Given the description of an element on the screen output the (x, y) to click on. 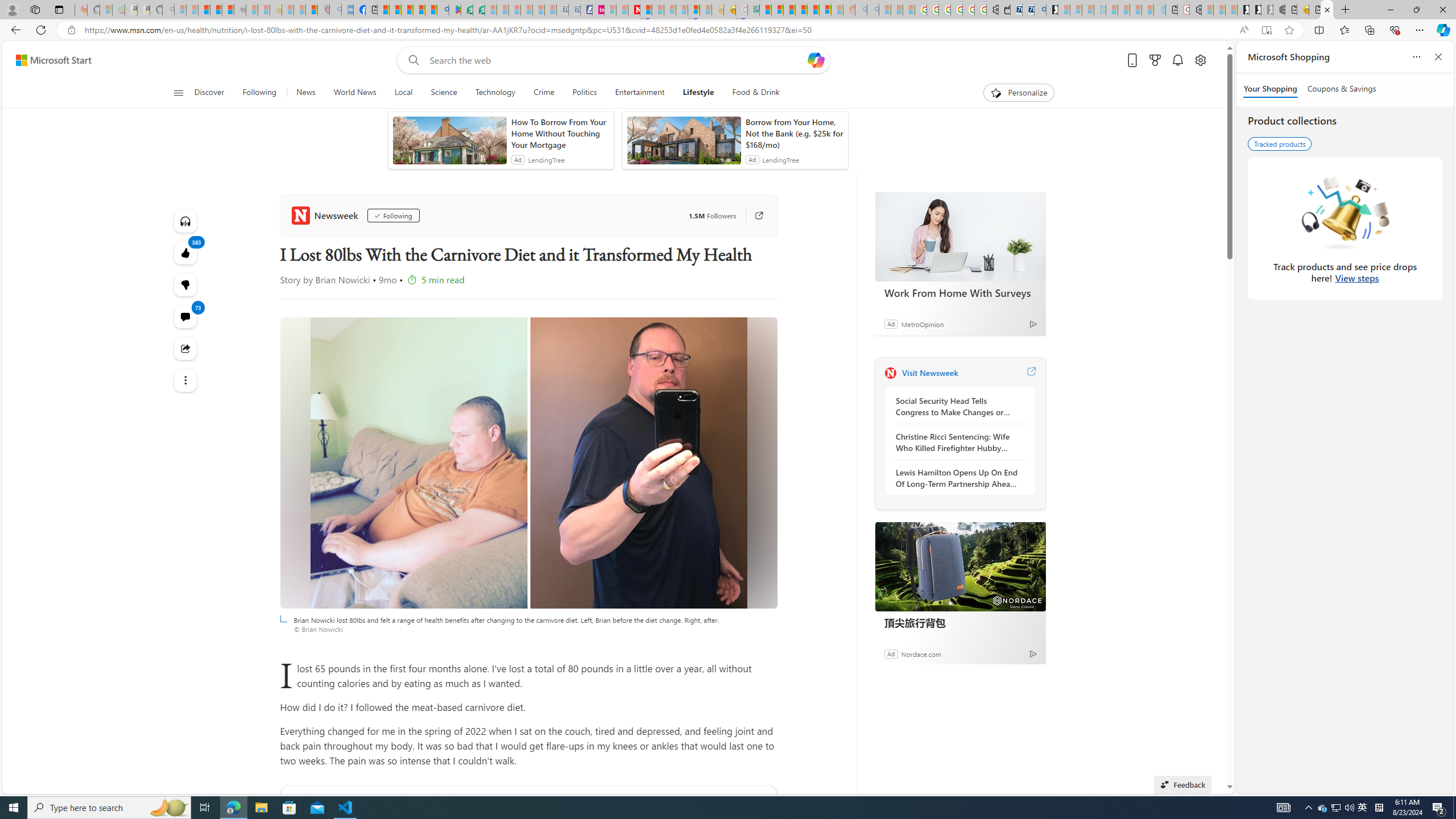
Open Copilot (816, 59)
To get missing image descriptions, open the context menu. (995, 92)
New Tab (1346, 9)
Share this story (184, 348)
New Report Confirms 2023 Was Record Hot | Watch (227, 9)
Bing Real Estate - Home sales and rental listings (1040, 9)
Class: button-glyph (178, 92)
Microsoft account | Privacy (777, 9)
Science (443, 92)
View comments 73 Comment (184, 316)
Enter your search term (617, 59)
Ad (890, 653)
